Given the description of an element on the screen output the (x, y) to click on. 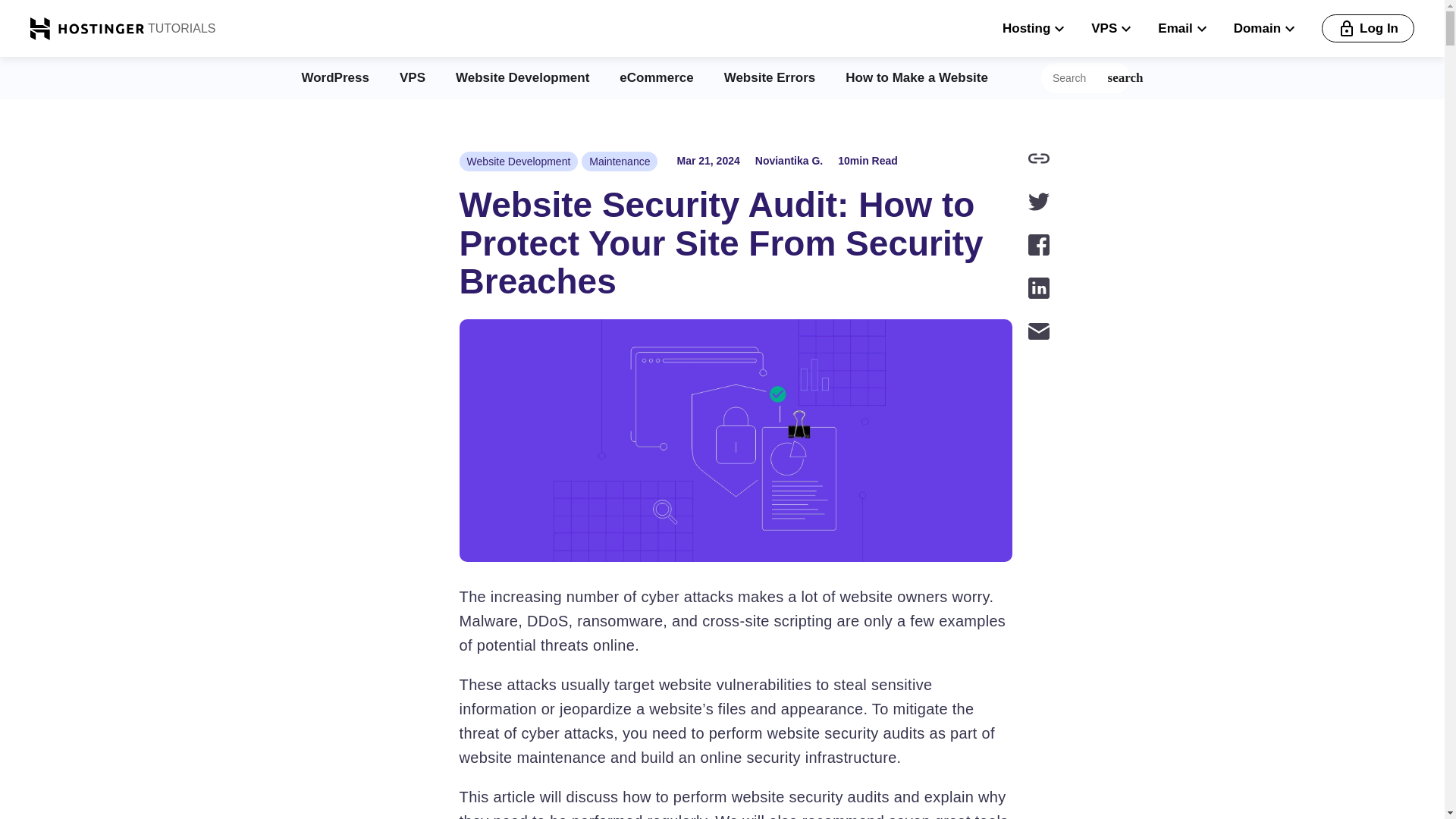
TUTORIALS (179, 28)
eCommerce (656, 77)
Maintenance (619, 161)
How to Make a Website (916, 77)
Website Errors (769, 77)
WordPress (335, 77)
Log In (1367, 28)
Website Development (519, 161)
VPS (411, 77)
Website Development (522, 77)
